Given the description of an element on the screen output the (x, y) to click on. 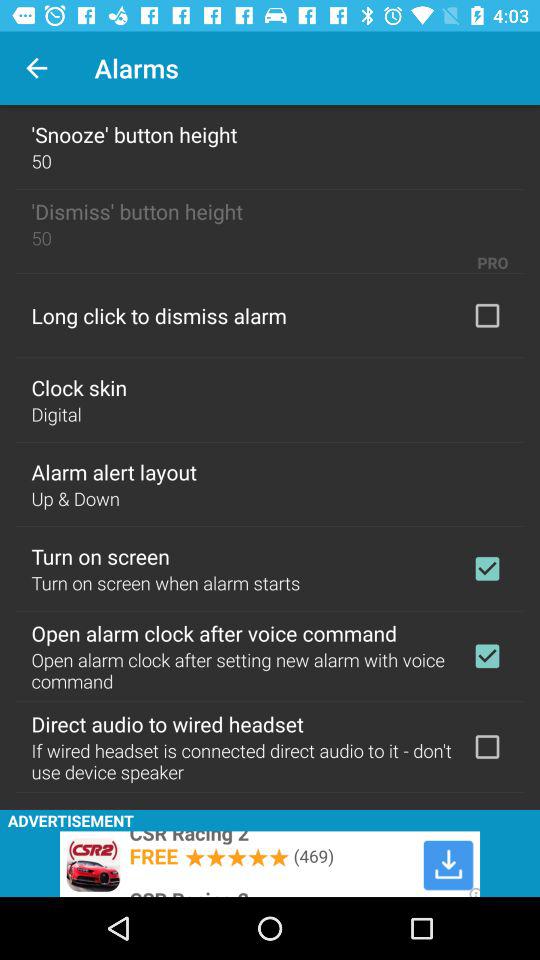
go to tick option (487, 656)
